Given the description of an element on the screen output the (x, y) to click on. 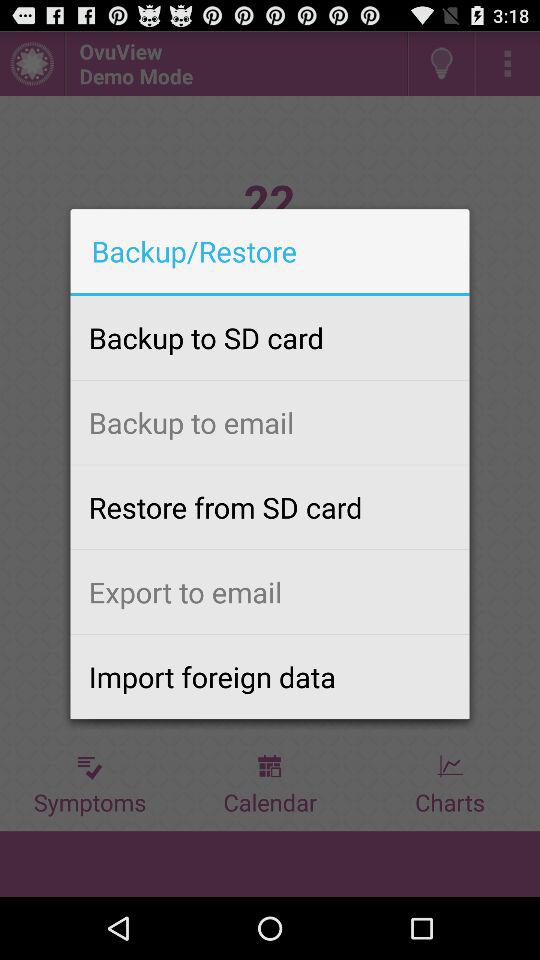
jump to the import foreign data icon (269, 676)
